Given the description of an element on the screen output the (x, y) to click on. 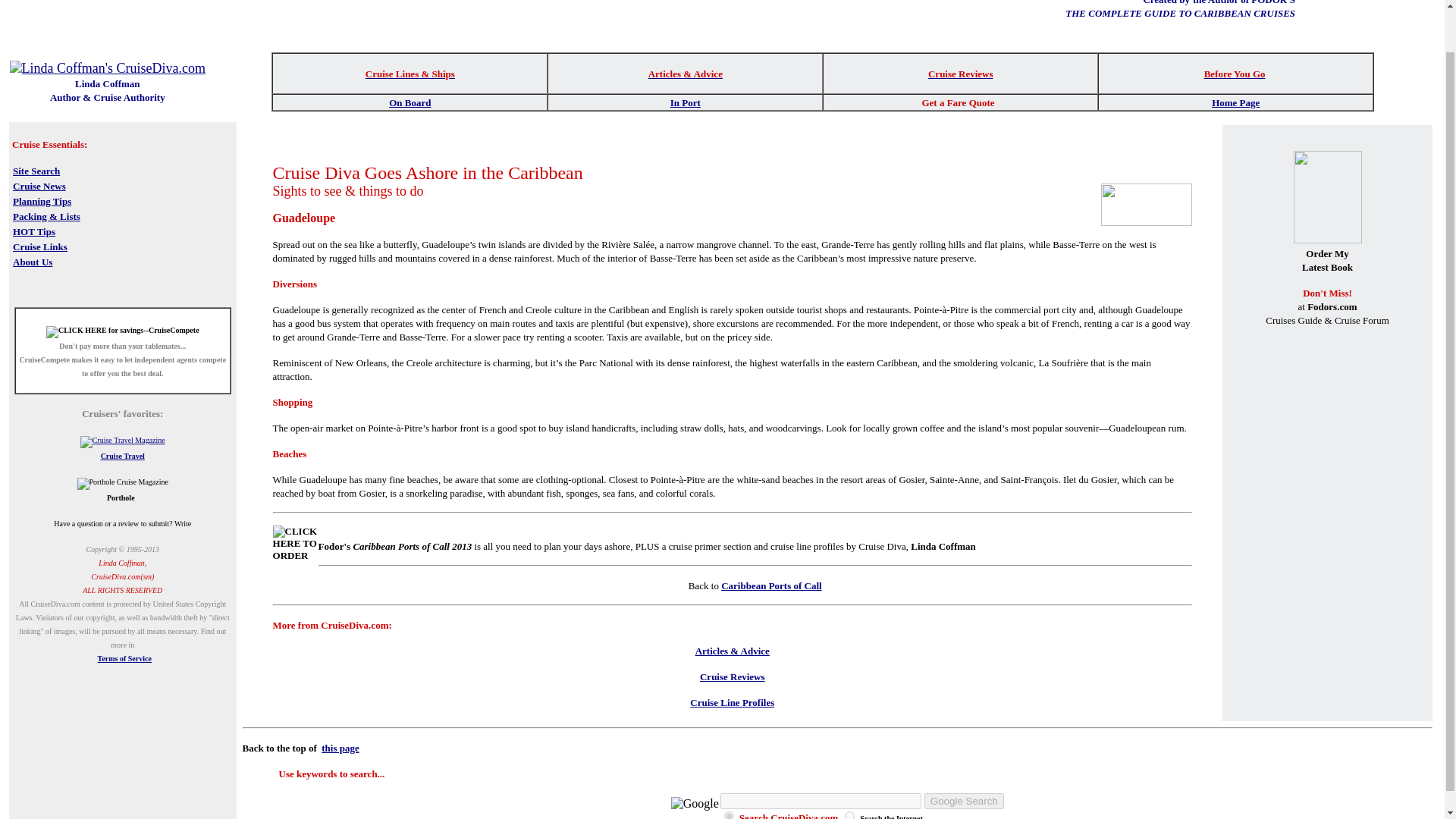
Site Search (36, 169)
Terms of Service (124, 658)
Cruise Reviews (732, 676)
Before You Go (1234, 72)
Cruise Links (39, 245)
Cruise Line Profiles (732, 702)
Cruise Travel (122, 456)
About Us (32, 260)
Caribbean Ports of Call (771, 585)
Cruise Reviews (960, 72)
Google Search (964, 801)
HOT Tips (34, 230)
this page (339, 747)
In Port (684, 101)
Planning Tips (42, 200)
